Given the description of an element on the screen output the (x, y) to click on. 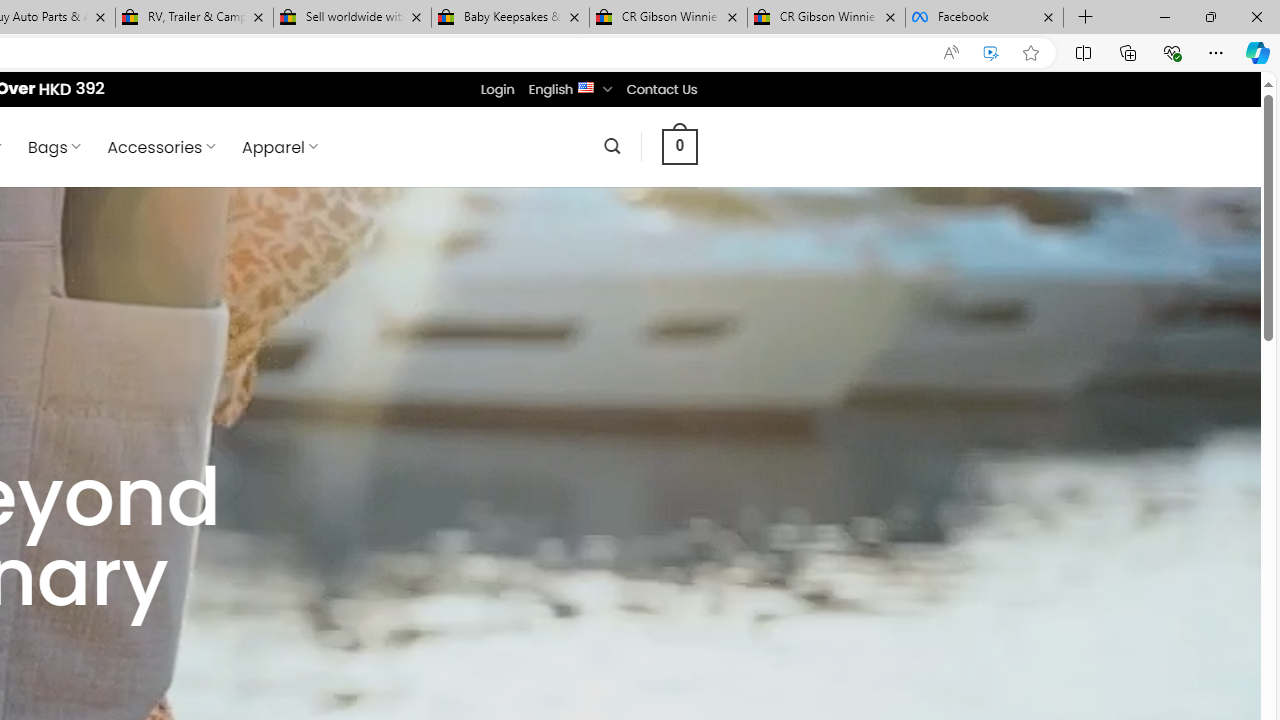
RV, Trailer & Camper Steps & Ladders for sale | eBay (194, 17)
 0  (679, 146)
English (586, 86)
Enhance video (991, 53)
